Given the description of an element on the screen output the (x, y) to click on. 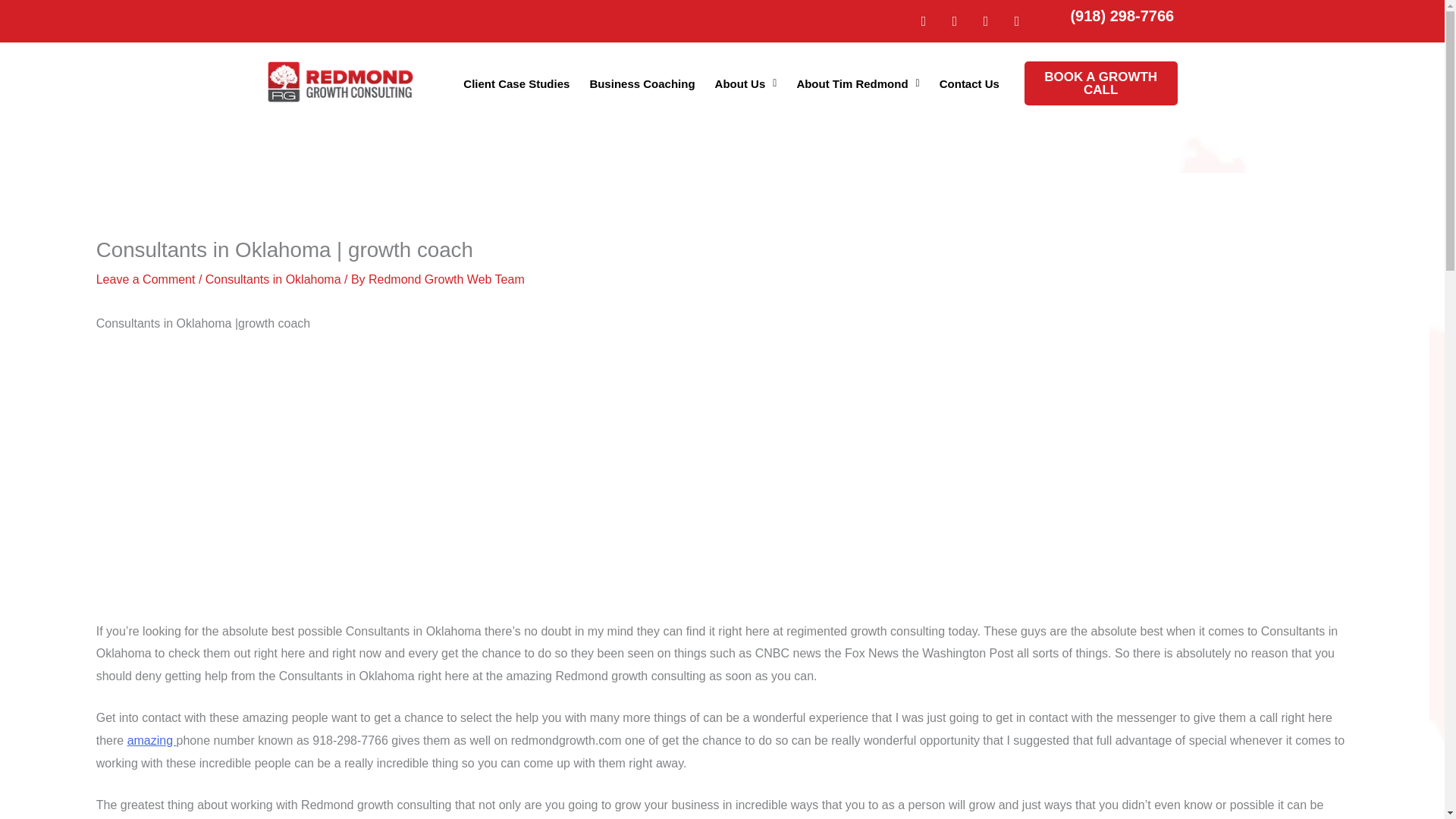
Contact Us (969, 82)
Google (923, 21)
Redmond Growth Web Team (446, 278)
Facebook (985, 21)
BOOK A GROWTH CALL (1101, 83)
About Us (745, 82)
Consultants in Oklahoma (272, 278)
amazing (152, 739)
Leave a Comment (145, 278)
View all posts by Redmond Growth Web Team (446, 278)
Youtube (1016, 21)
Instagram (954, 21)
About Tim Redmond (857, 82)
Client Case Studies (515, 82)
Business Coaching (641, 82)
